Given the description of an element on the screen output the (x, y) to click on. 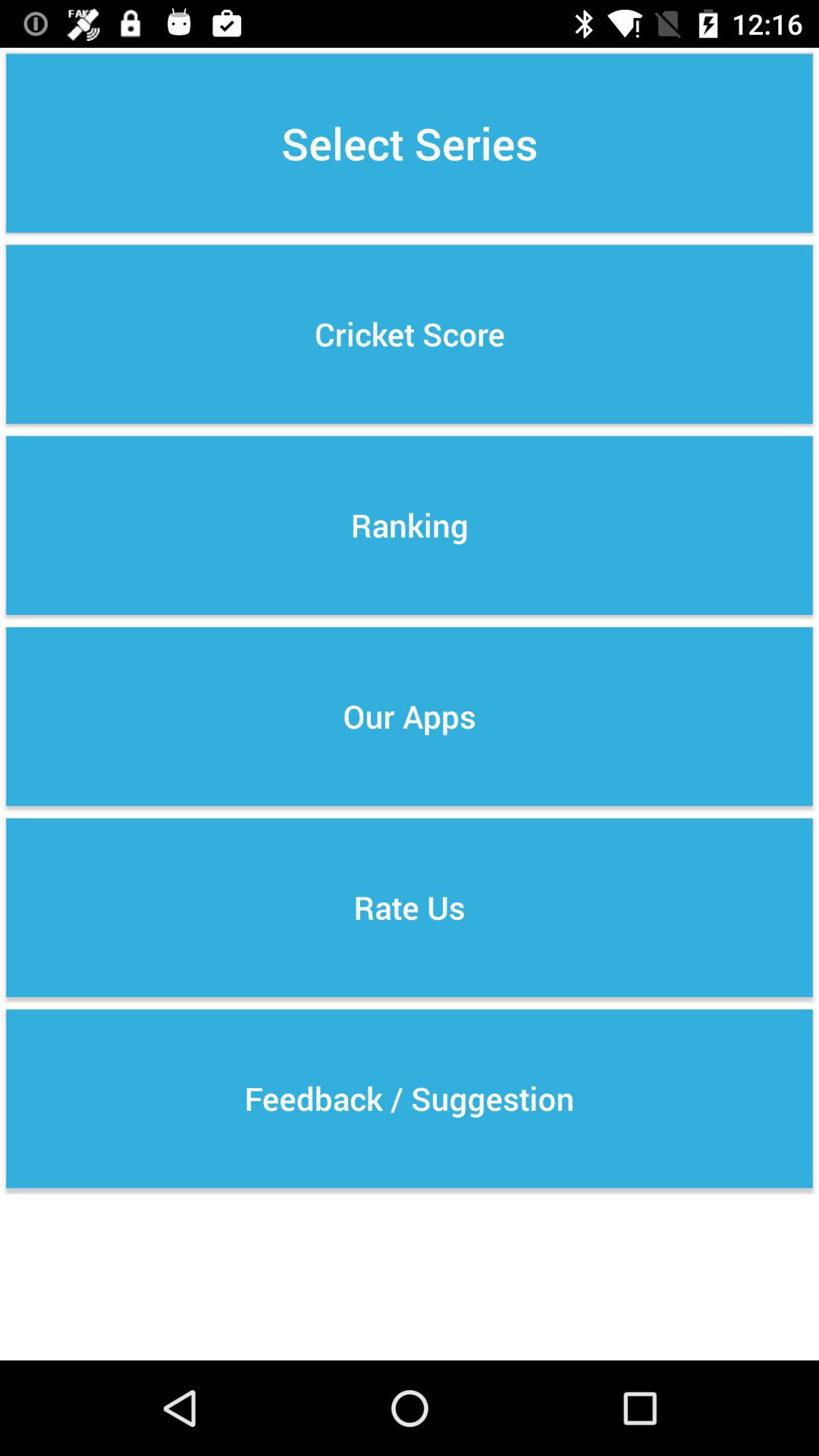
open the feedback / suggestion item (409, 1098)
